Given the description of an element on the screen output the (x, y) to click on. 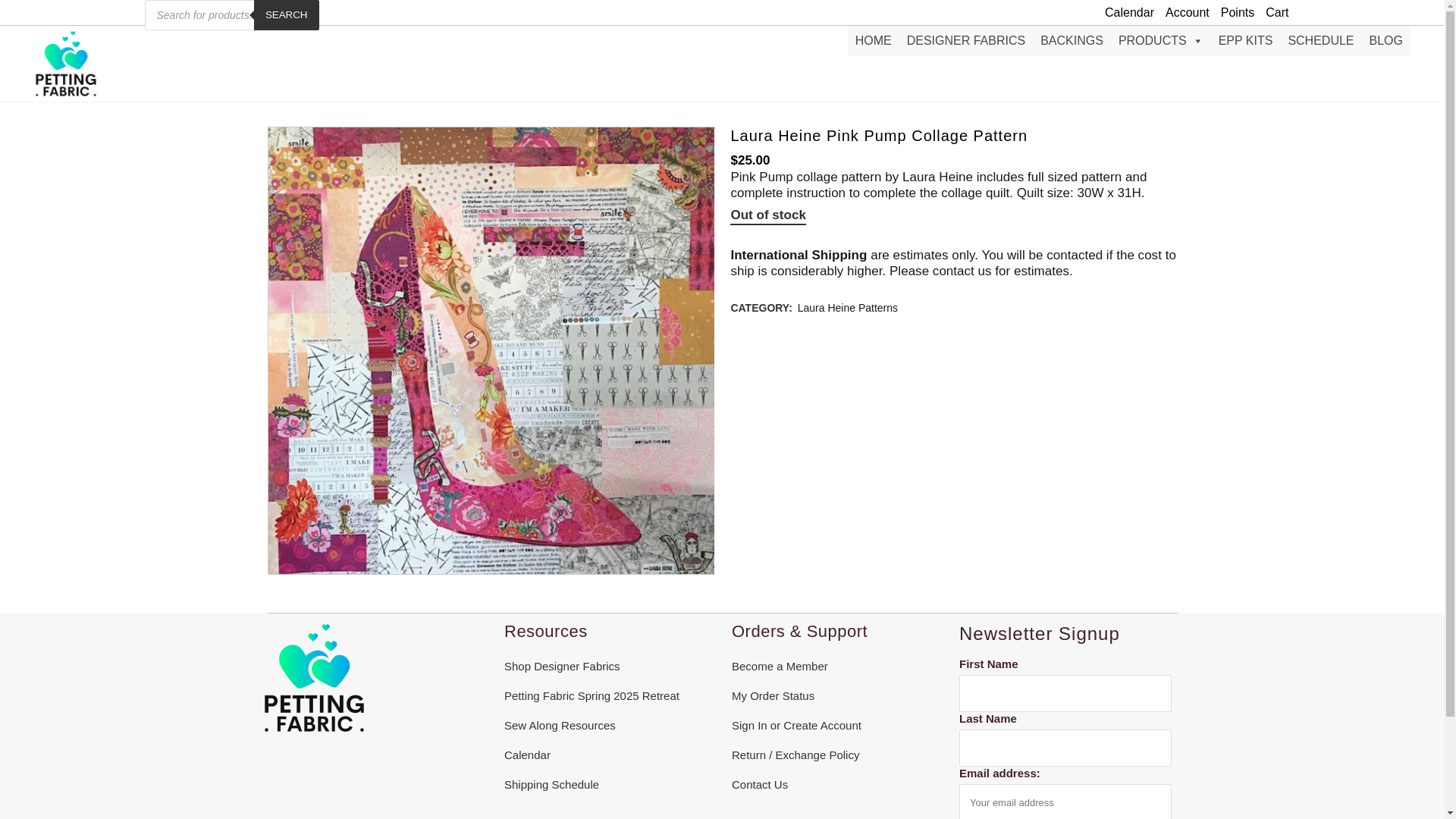
PRODUCTS (1160, 40)
HOME (873, 40)
BACKINGS (1071, 40)
BLOG (1385, 40)
Points (1231, 12)
DESIGNER FABRICS (965, 40)
EPP KITS (1246, 40)
Calendar (1123, 12)
Account (1181, 12)
SCHEDULE (1320, 40)
SEARCH (285, 15)
Laura Heine Patterns (847, 307)
Cart (1270, 12)
